Given the description of an element on the screen output the (x, y) to click on. 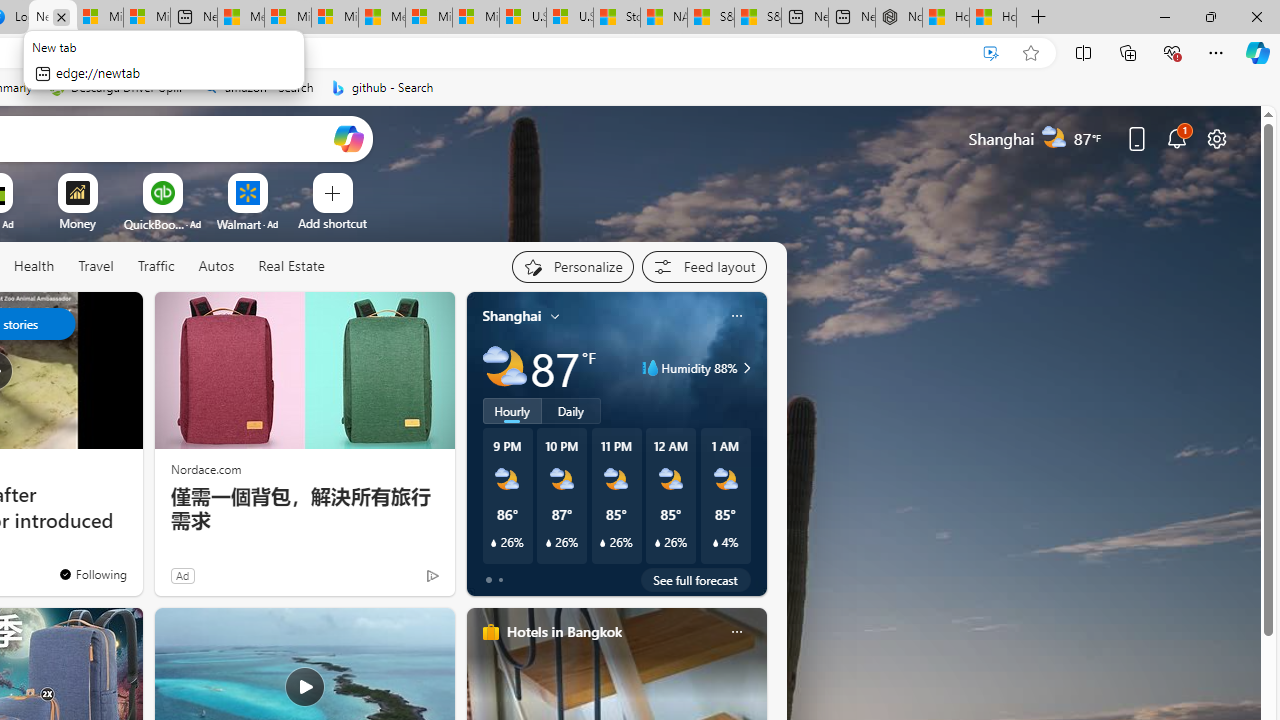
Autos (216, 267)
Open Copilot (347, 138)
Daily (571, 411)
Class: weather-current-precipitation-glyph (715, 543)
Money (77, 223)
Health (33, 267)
Descarga Driver Updater (118, 88)
Traffic (155, 265)
Microsoft account | Home (335, 17)
Page settings (1216, 138)
